Given the description of an element on the screen output the (x, y) to click on. 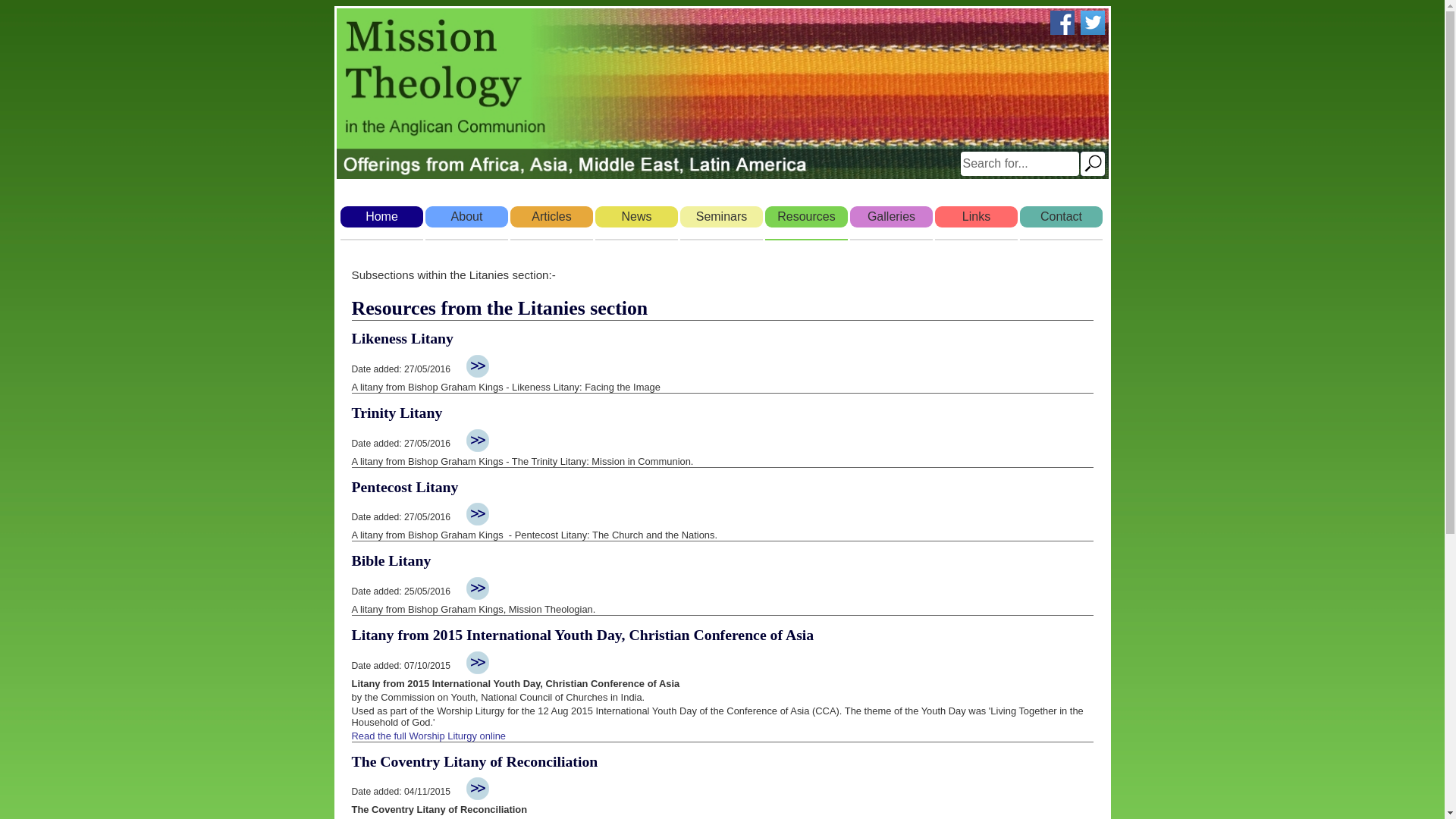
About (465, 216)
Seminars (720, 216)
Home (380, 216)
Articles (550, 216)
News (635, 216)
Likeness Litany (402, 338)
